Given the description of an element on the screen output the (x, y) to click on. 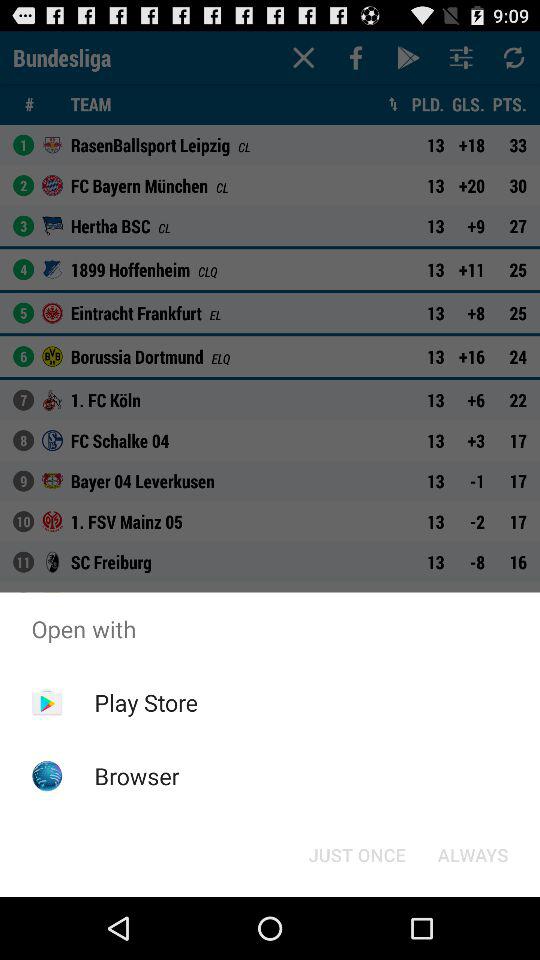
flip to the just once button (356, 854)
